Given the description of an element on the screen output the (x, y) to click on. 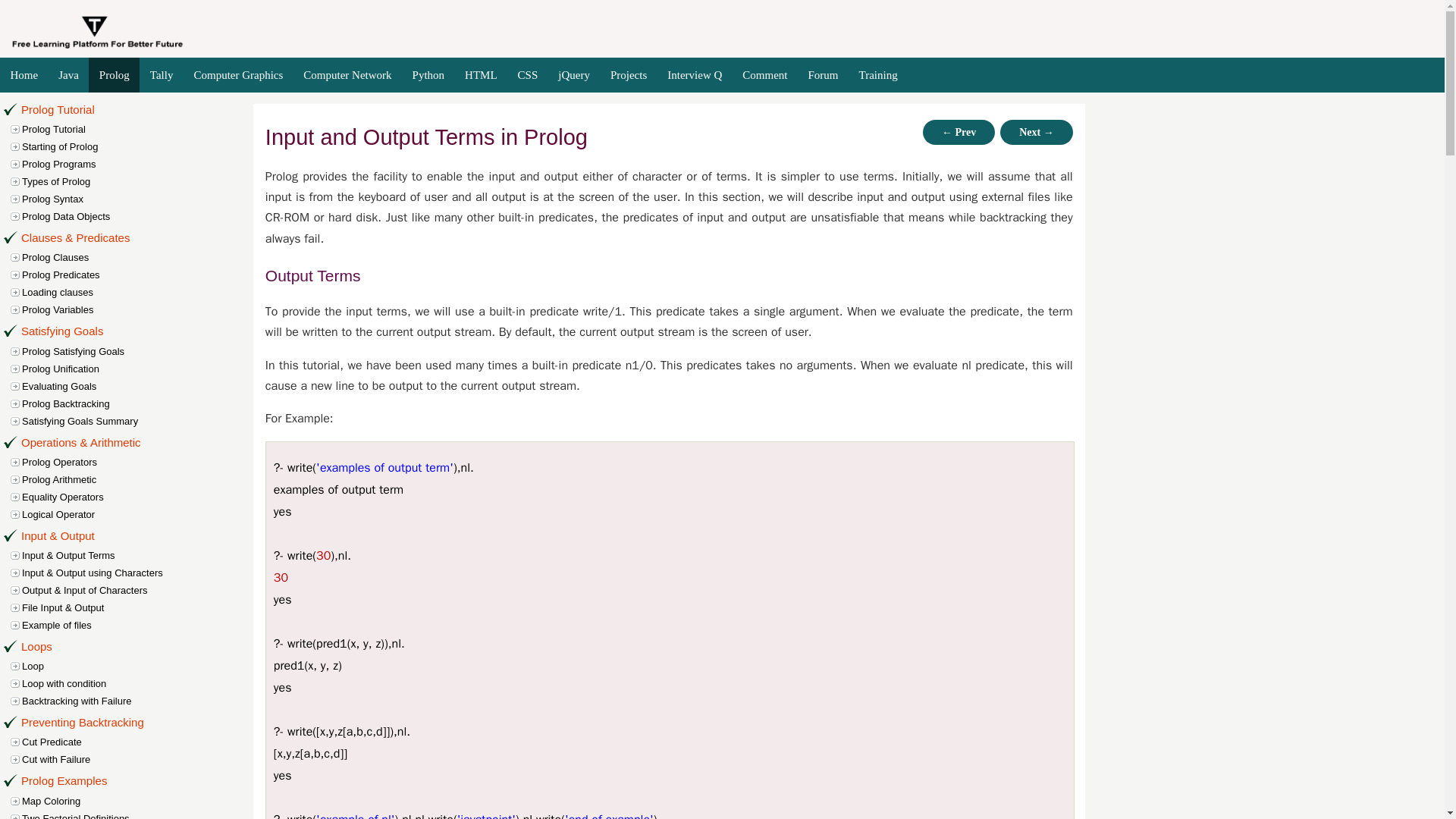
Types of Prolog (138, 181)
Prolog Clauses (138, 257)
Projects (627, 75)
Prolog Backtracking (138, 403)
HTML (481, 75)
Satisfying Goals Summary (138, 421)
Equality Operators (138, 496)
Prolog Arithmetic (138, 479)
Evaluating Goals (138, 385)
Prolog Satisfying Goals (138, 351)
